Given the description of an element on the screen output the (x, y) to click on. 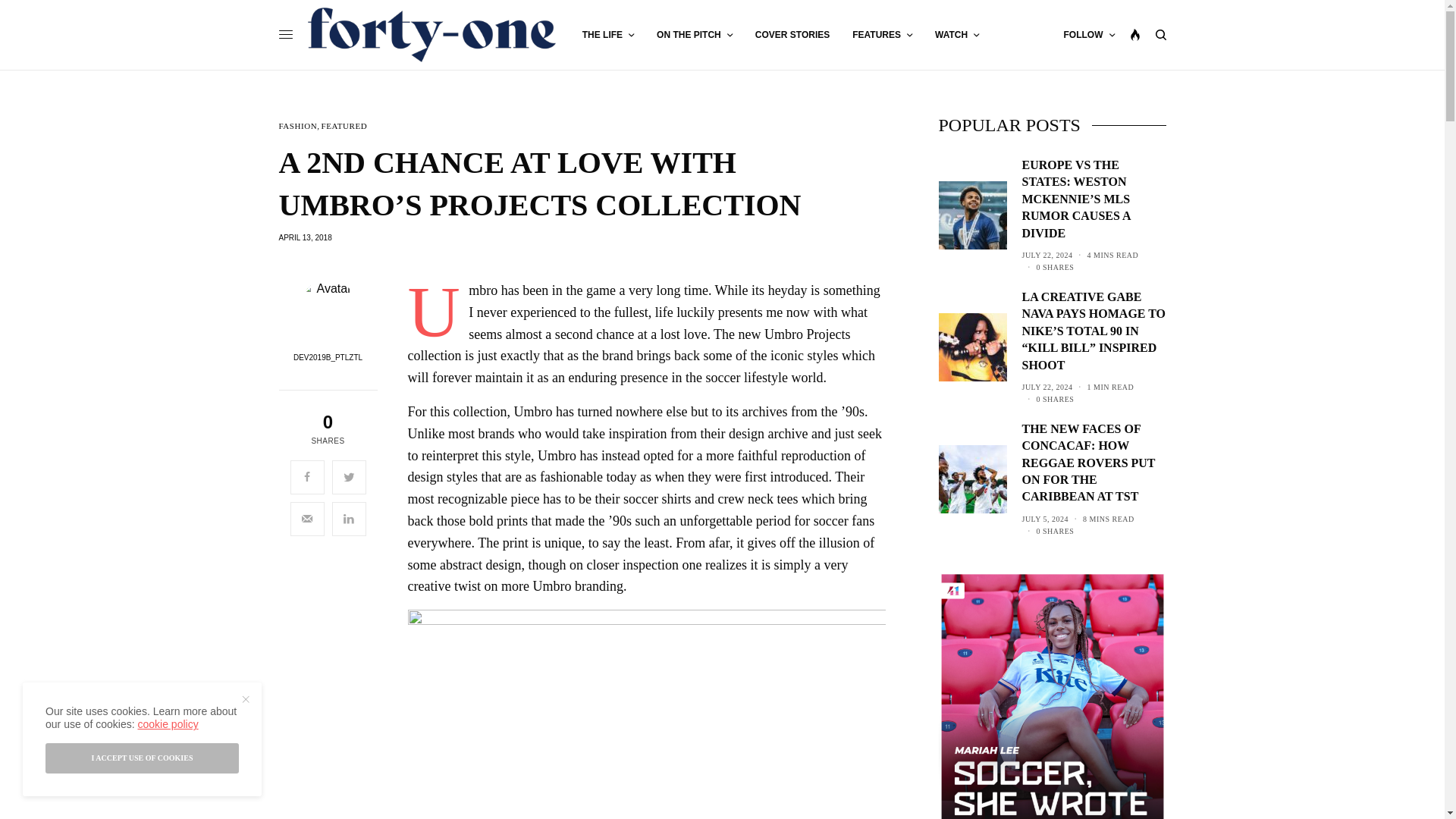
Forty-One Magazine (431, 34)
THE LIFE (607, 34)
ON THE PITCH (694, 34)
